Given the description of an element on the screen output the (x, y) to click on. 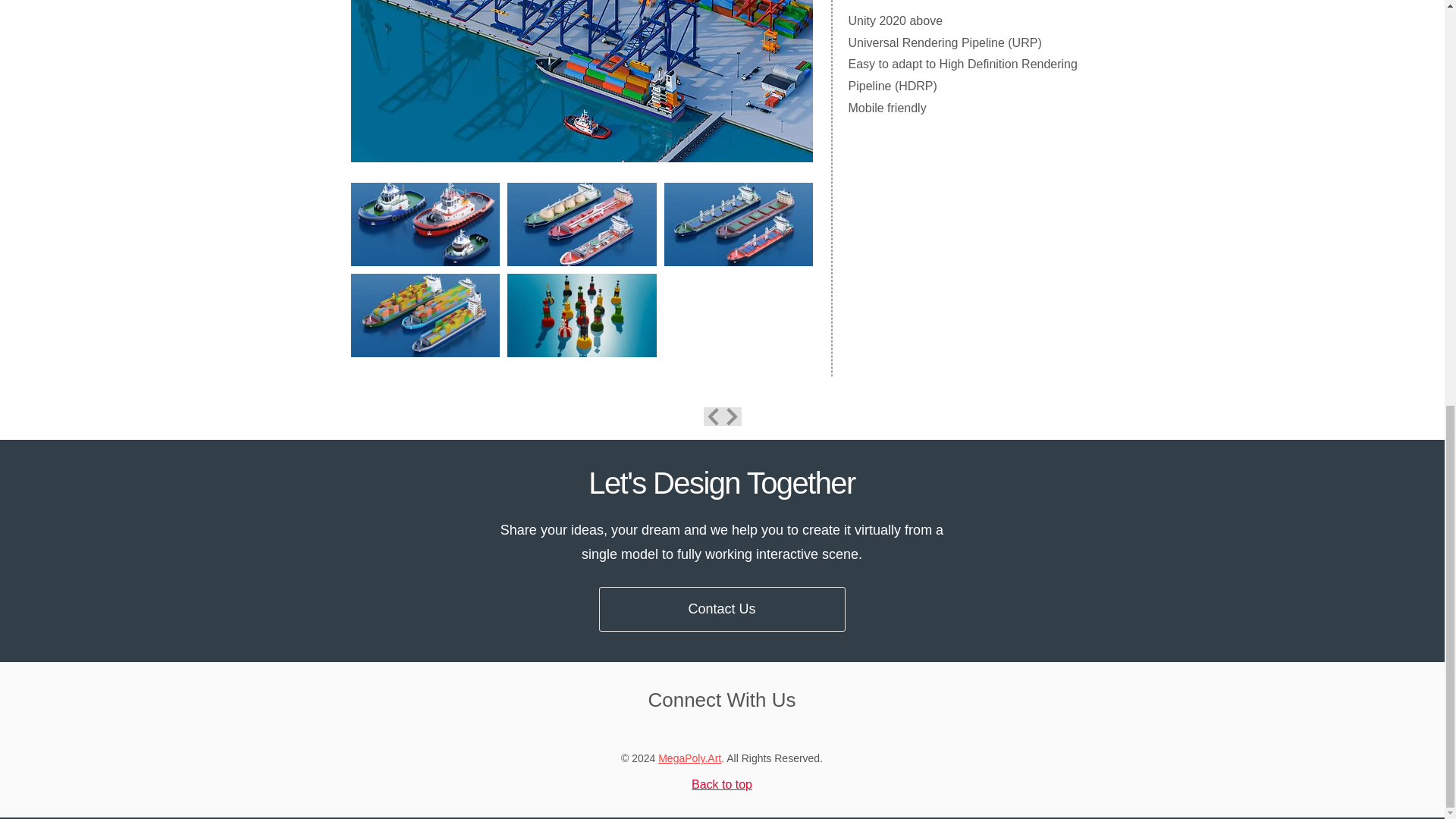
Back to top (721, 784)
Contact Us (721, 609)
MegaPoly.Art (689, 758)
